Given the description of an element on the screen output the (x, y) to click on. 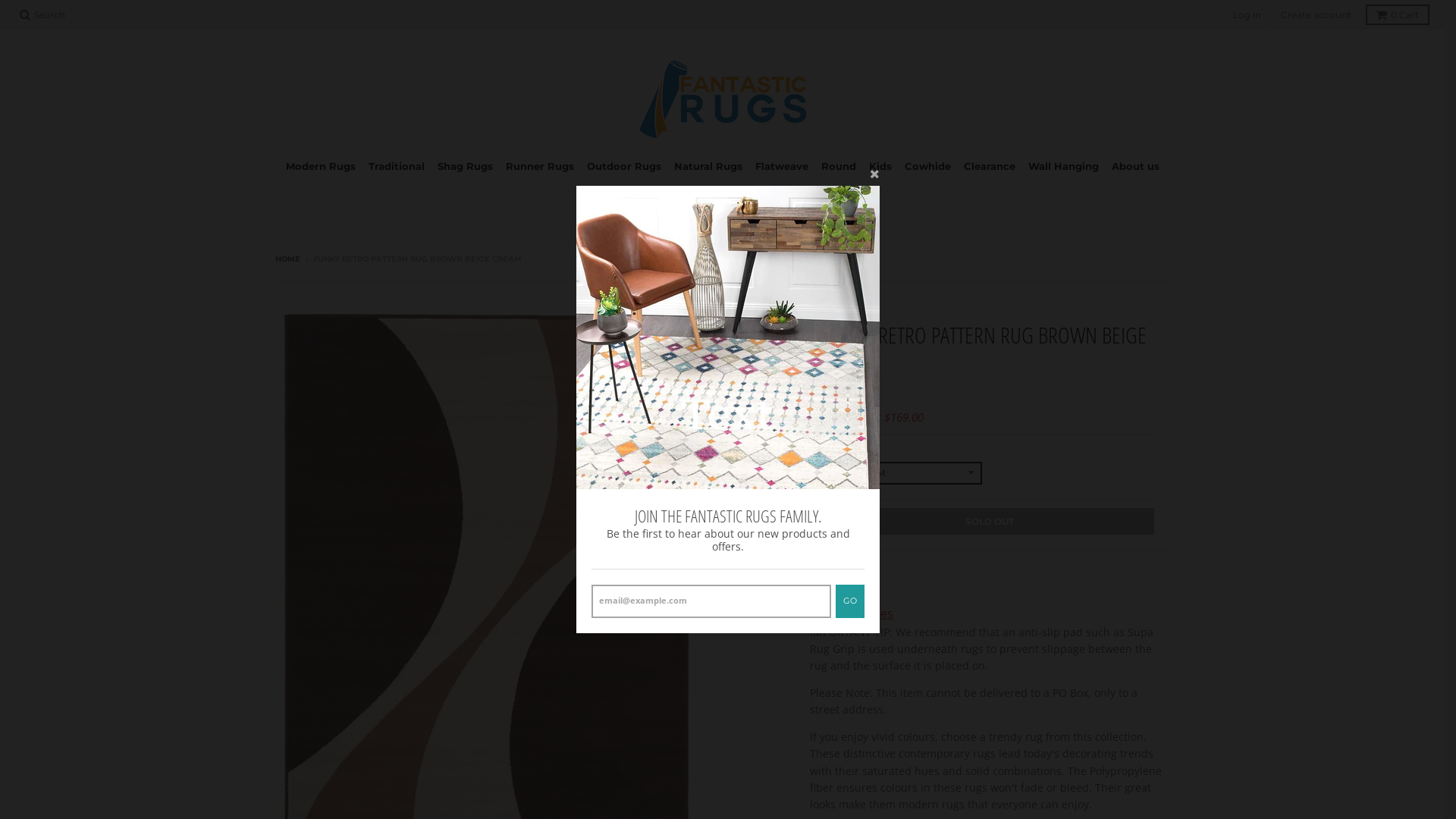
Kids Element type: text (879, 166)
Outdoor Rugs Element type: text (622, 166)
GO Element type: text (849, 601)
Cowhide Element type: text (927, 166)
Shag Rugs Element type: text (465, 166)
Flatweave Element type: text (780, 166)
Modern Rugs Element type: text (320, 166)
Search Element type: text (42, 14)
Create account Element type: text (1315, 14)
SOLD OUT Element type: text (989, 521)
Runner Rugs Element type: text (539, 166)
Description Element type: text (842, 574)
Round Element type: text (838, 166)
Delivery Times Element type: text (851, 613)
Contact us Element type: text (722, 192)
Traditional Element type: text (395, 166)
Log in Element type: text (1246, 14)
HOME Element type: text (286, 258)
0 Cart Element type: text (1397, 14)
Wall Hanging Element type: text (1062, 166)
Clearance Element type: text (989, 166)
Natural Rugs Element type: text (707, 166)
About us Element type: text (1134, 166)
Returns Element type: text (832, 593)
